Given the description of an element on the screen output the (x, y) to click on. 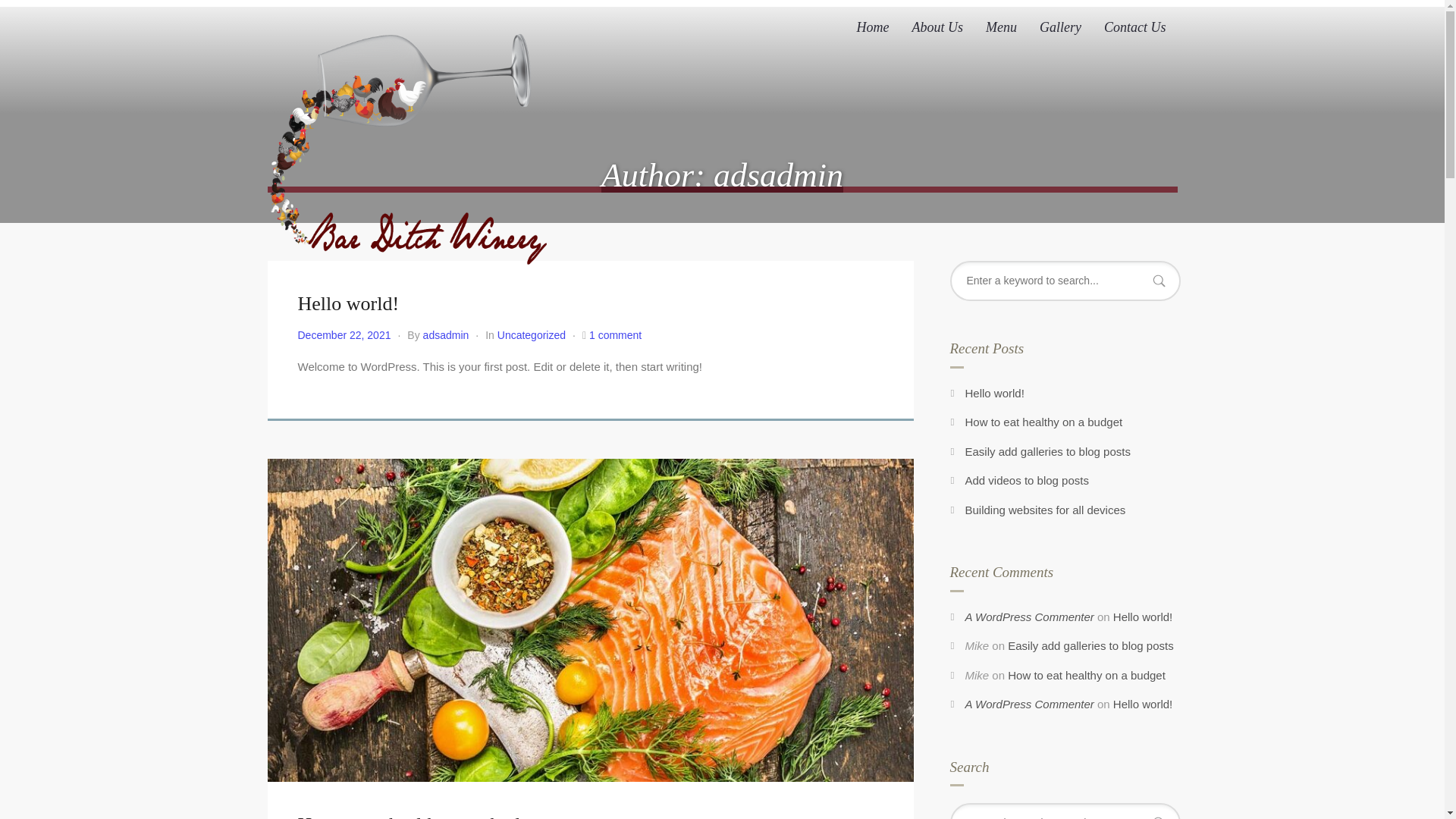
Home (873, 27)
Menu (1000, 27)
About Us (938, 27)
December 22, 2021 (343, 335)
adsadmin (445, 335)
1 comment (615, 335)
How to eat healthy on a budget (420, 816)
Gallery (1060, 27)
Uncategorized (531, 335)
Bar Ditch Winery (408, 142)
Hello world! (347, 303)
Contact Us (1135, 27)
